Given the description of an element on the screen output the (x, y) to click on. 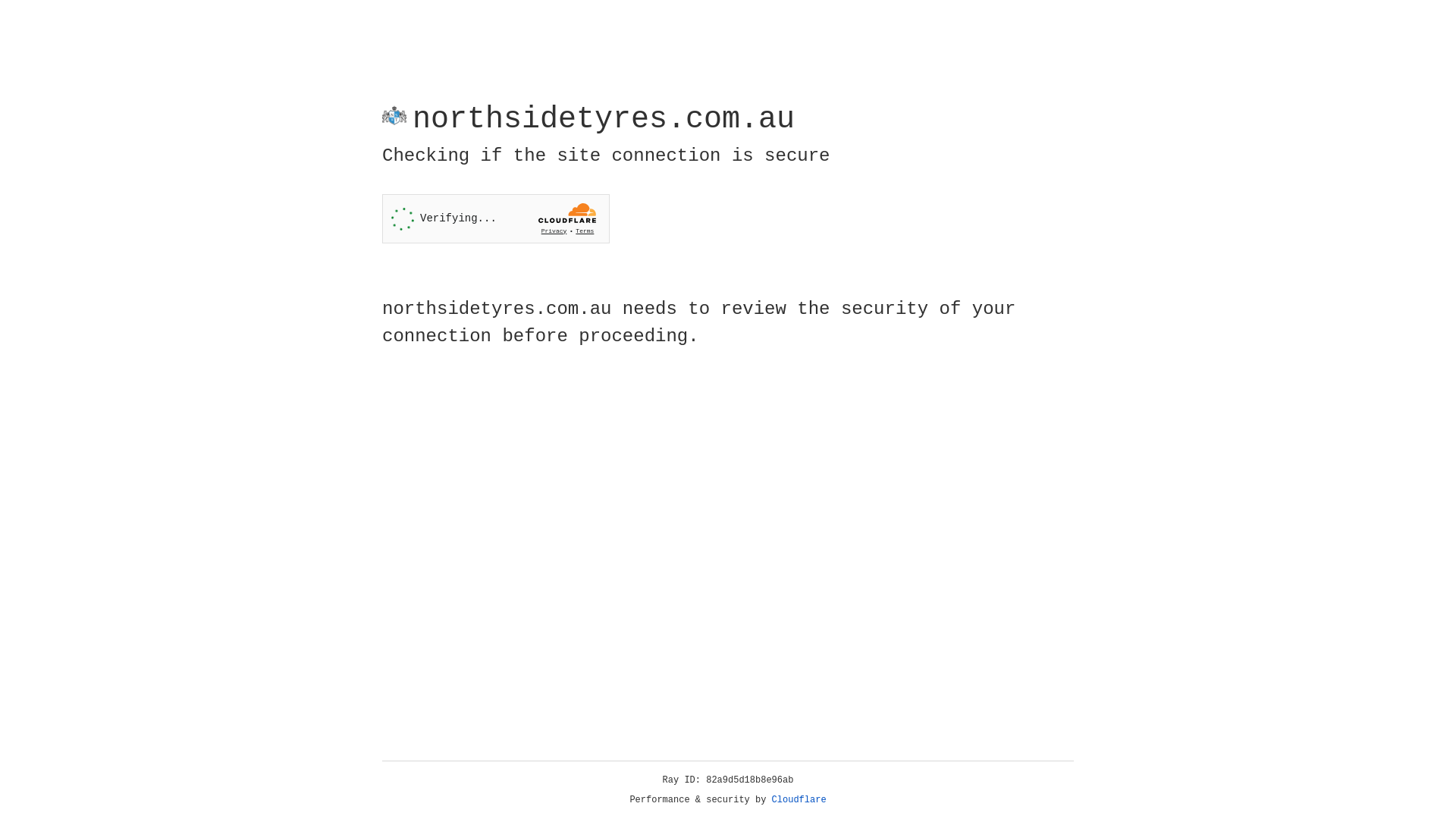
Cloudflare Element type: text (798, 799)
Widget containing a Cloudflare security challenge Element type: hover (495, 218)
